Given the description of an element on the screen output the (x, y) to click on. 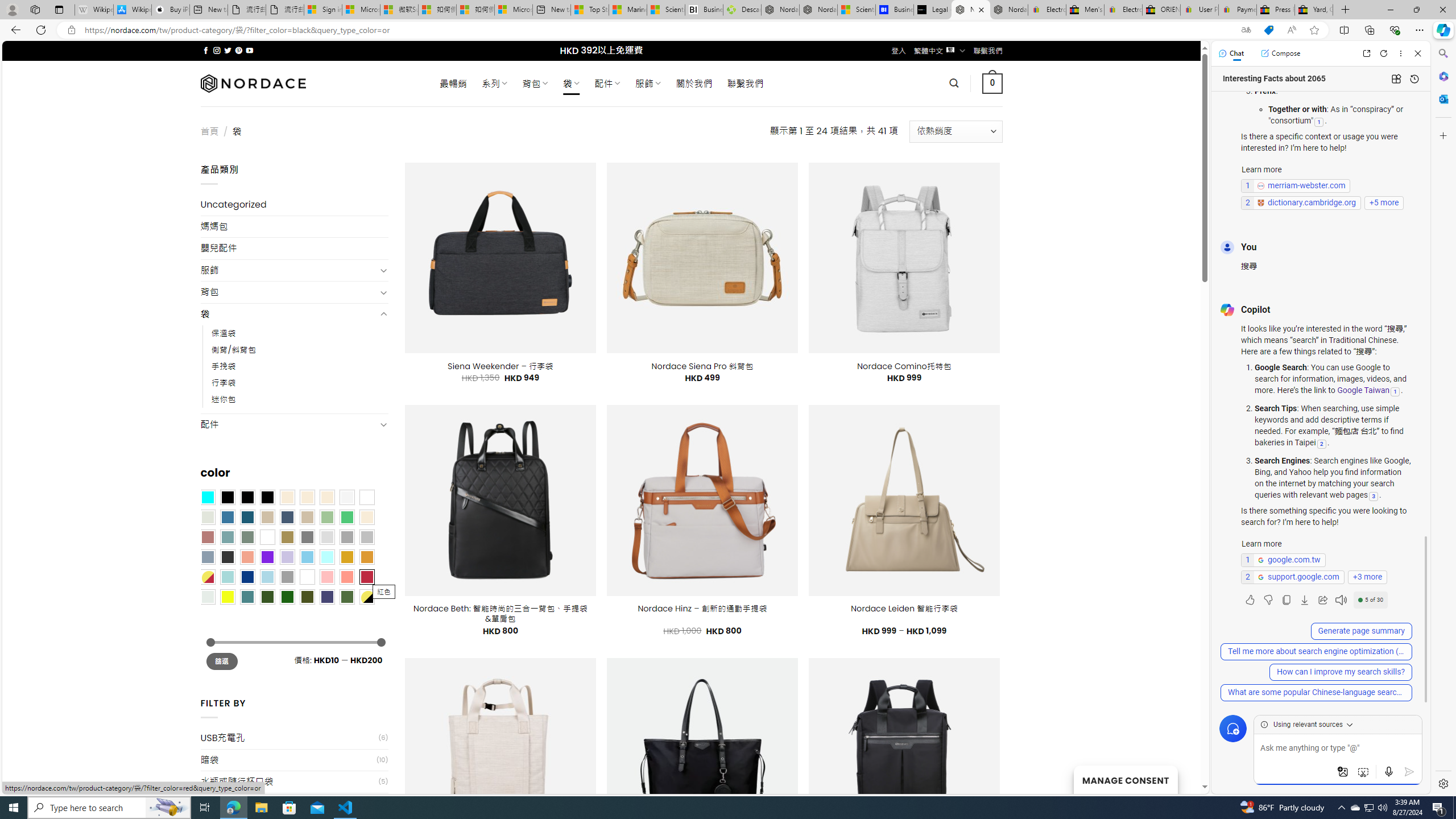
Top Stories - MSN (589, 9)
User Privacy Notice | eBay (1198, 9)
MANAGE CONSENT (1125, 779)
Show translate options (1245, 29)
